Given the description of an element on the screen output the (x, y) to click on. 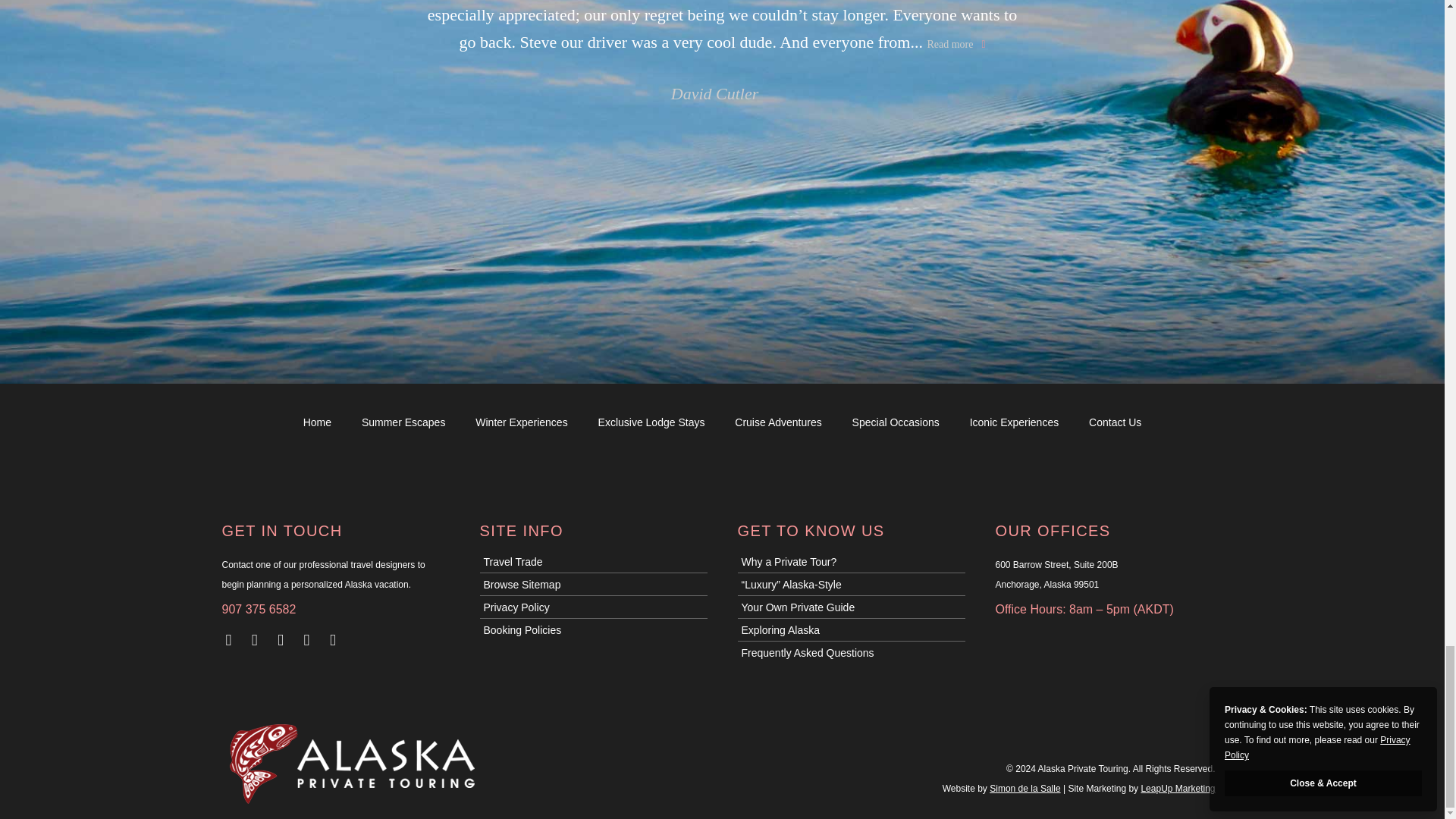
YouTube (336, 638)
Twitter (258, 638)
LinkedIn (310, 638)
Instagram (232, 638)
Facebook (284, 638)
